Given the description of an element on the screen output the (x, y) to click on. 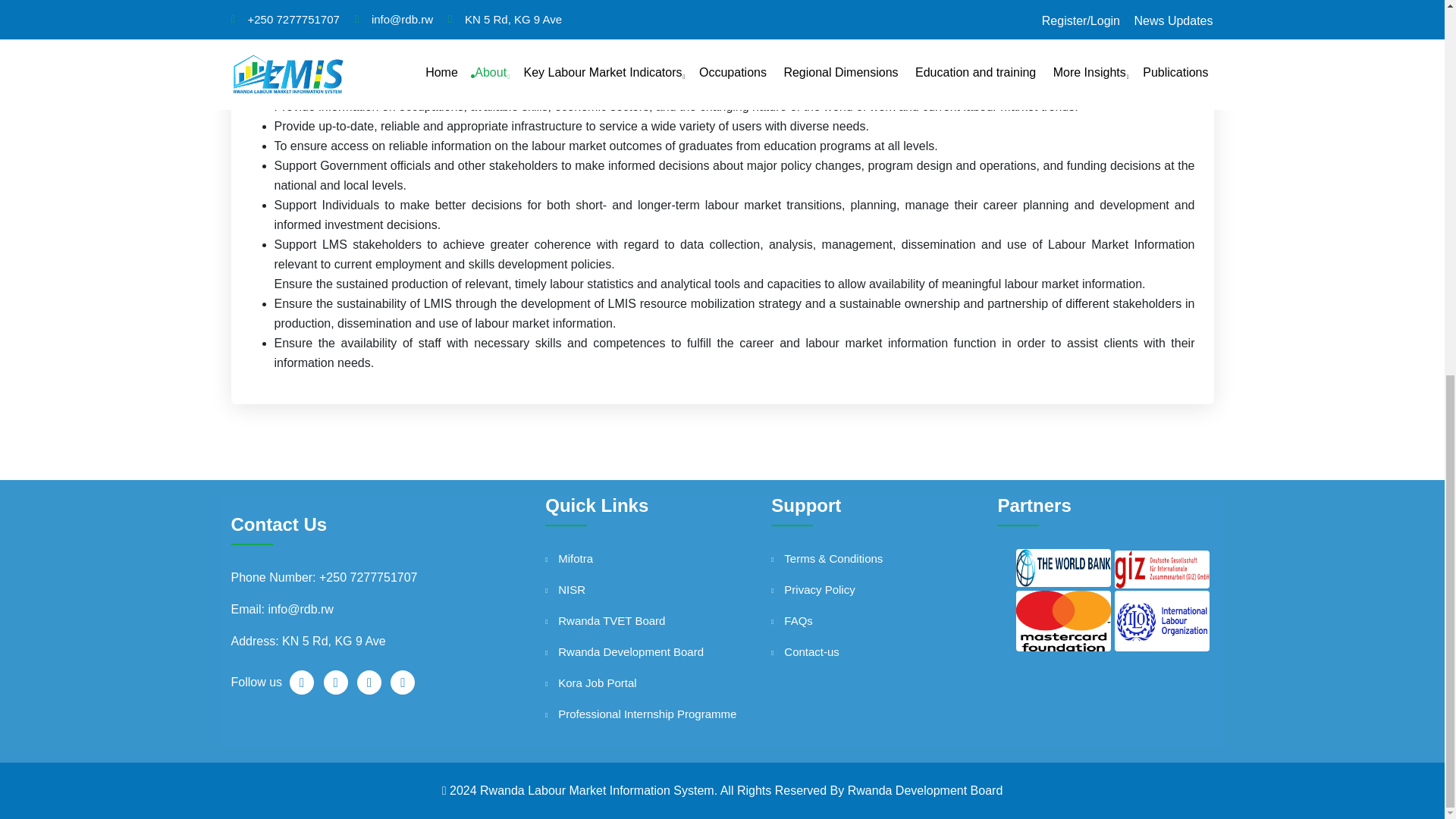
NISR (664, 589)
Rwanda TVET Board (664, 620)
FAQs (890, 620)
Contact-us (890, 651)
Privacy Policy (890, 589)
Kora Job Portal (664, 682)
Professional Internship Programme (664, 713)
Rwanda Development Board (664, 651)
Mifotra (664, 558)
